Given the description of an element on the screen output the (x, y) to click on. 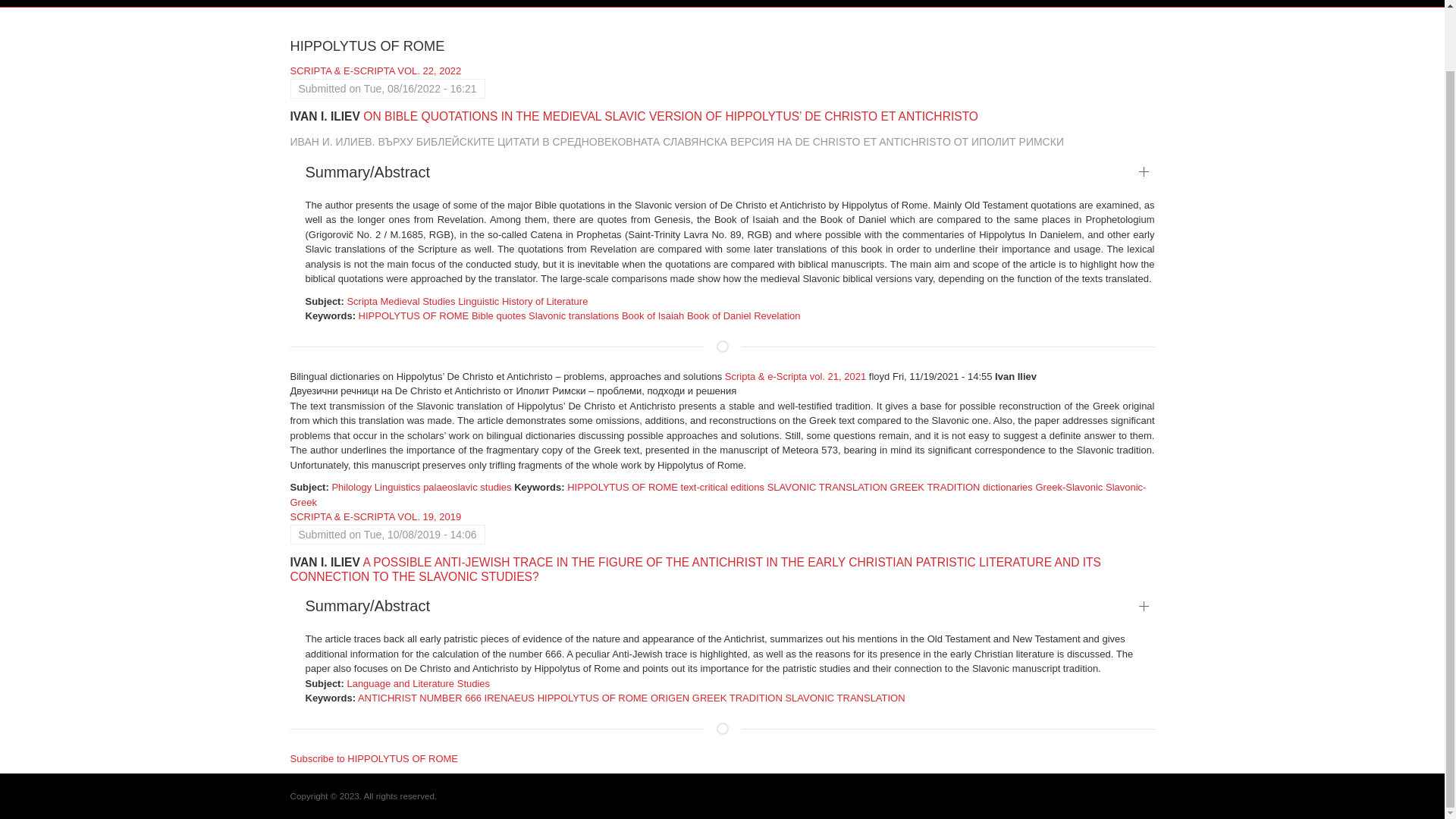
HOME (319, 3)
HIPPOLYTUS OF ROME (413, 315)
GUIDELINES FOR AUTHORS (633, 3)
ETHICS (830, 3)
Bible quotes (498, 315)
Scripta (361, 301)
Medieval Studies (417, 301)
GUIDELINES FOR AUTHORS (633, 3)
EDITORIAL BOARD (410, 3)
LINKS (893, 3)
